Given the description of an element on the screen output the (x, y) to click on. 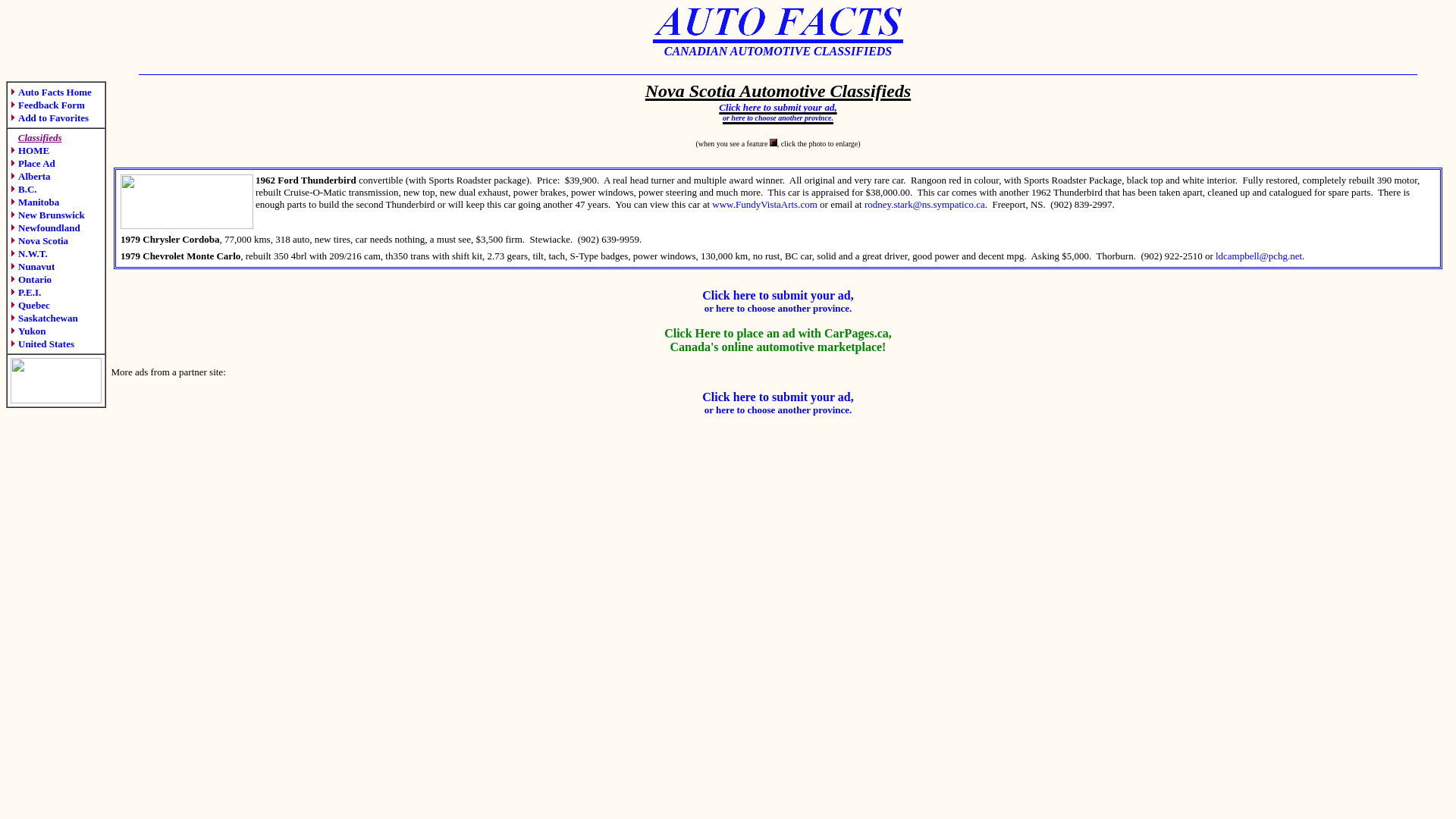
United States Element type: text (42, 343)
Quebec Element type: text (30, 304)
Manitoba Element type: text (34, 201)
or here to choose another province. Element type: text (778, 307)
Yukon Element type: text (27, 330)
Feedback Form Element type: text (47, 104)
New Brunswick Element type: text (47, 214)
Place Ad Element type: text (32, 163)
Click here to submit your ad, Element type: text (777, 397)
Nunavut Element type: text (32, 266)
ldcampbell@pchg.net Element type: text (1258, 255)
Newfoundland Element type: text (45, 227)
Click here to submit your ad, Element type: text (777, 294)
Click here to submit your ad, Element type: text (777, 104)
P.E.I. Element type: text (25, 292)
www.FundyVistaArts.com Element type: text (764, 204)
Add to Favorites Element type: text (49, 117)
B.C. Element type: text (23, 188)
Auto Facts Home Element type: text (50, 91)
Nova Scotia Element type: text (39, 240)
rodney.stark@ns.sympatico.ca Element type: text (924, 204)
Ontario Element type: text (30, 279)
N.W.T. Element type: text (28, 253)
or here to choose another province. Element type: text (778, 409)
HOME Element type: text (29, 150)
or here to choose another province. Element type: text (777, 114)
Alberta Element type: text (30, 176)
Saskatchewan Element type: text (44, 317)
